Given the description of an element on the screen output the (x, y) to click on. 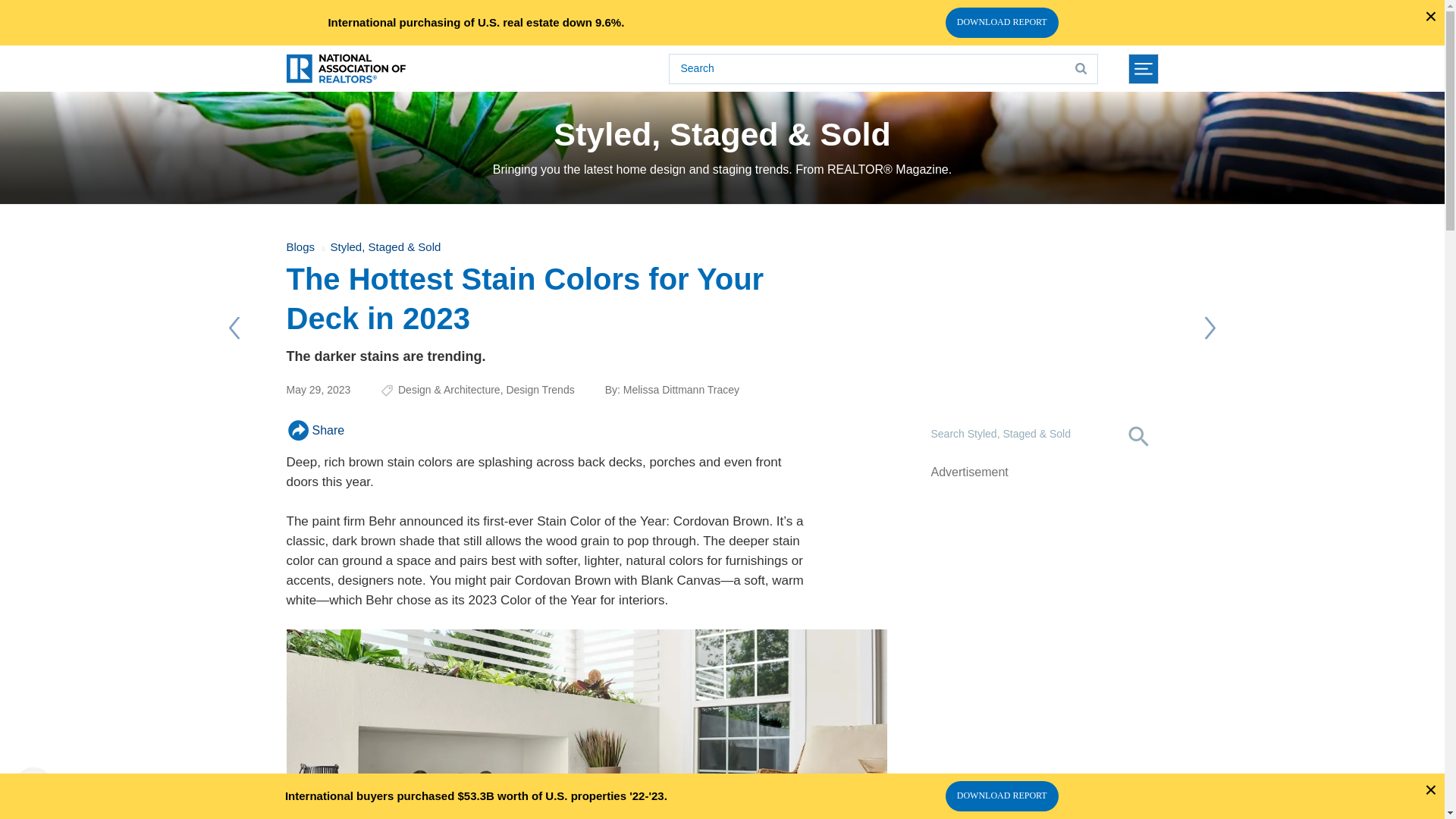
Go (1080, 69)
Enable accessibility (32, 785)
Skip to main content (721, 3)
Enter search (882, 69)
DOWNLOAD REPORT (1001, 22)
